Given the description of an element on the screen output the (x, y) to click on. 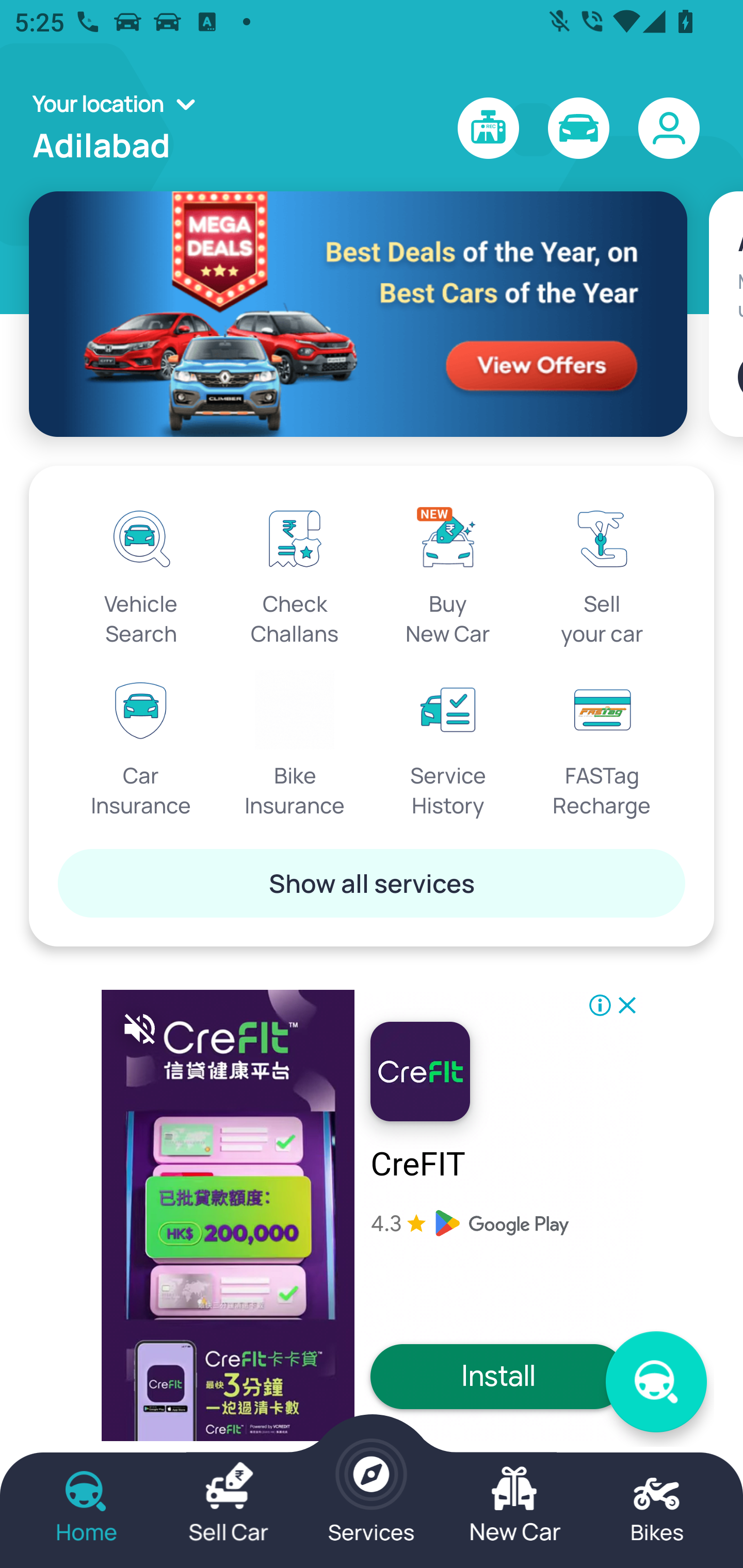
Your location Adilabad (119, 128)
Add vehicle (740, 376)
Vehicle
Search (141, 572)
Check
Challans (294, 572)
Buy
New Car (447, 572)
Sell
your car (601, 572)
Car
Insurance (141, 744)
Bike
Insurance (294, 744)
Service
History (447, 744)
FASTag Recharge (601, 744)
Show all services (371, 882)
Install (498, 1376)
